Given the description of an element on the screen output the (x, y) to click on. 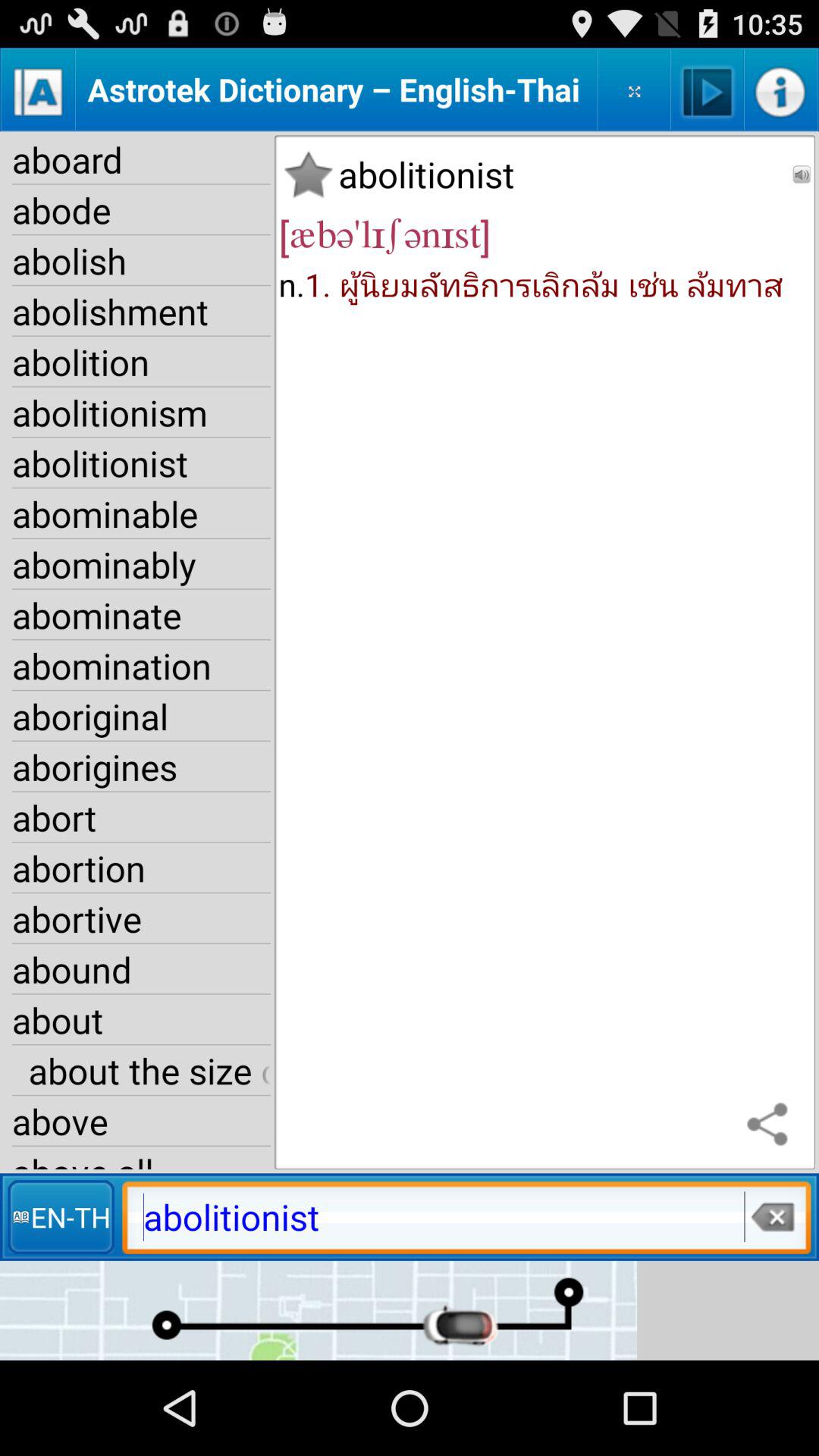
scale down app (633, 89)
